Given the description of an element on the screen output the (x, y) to click on. 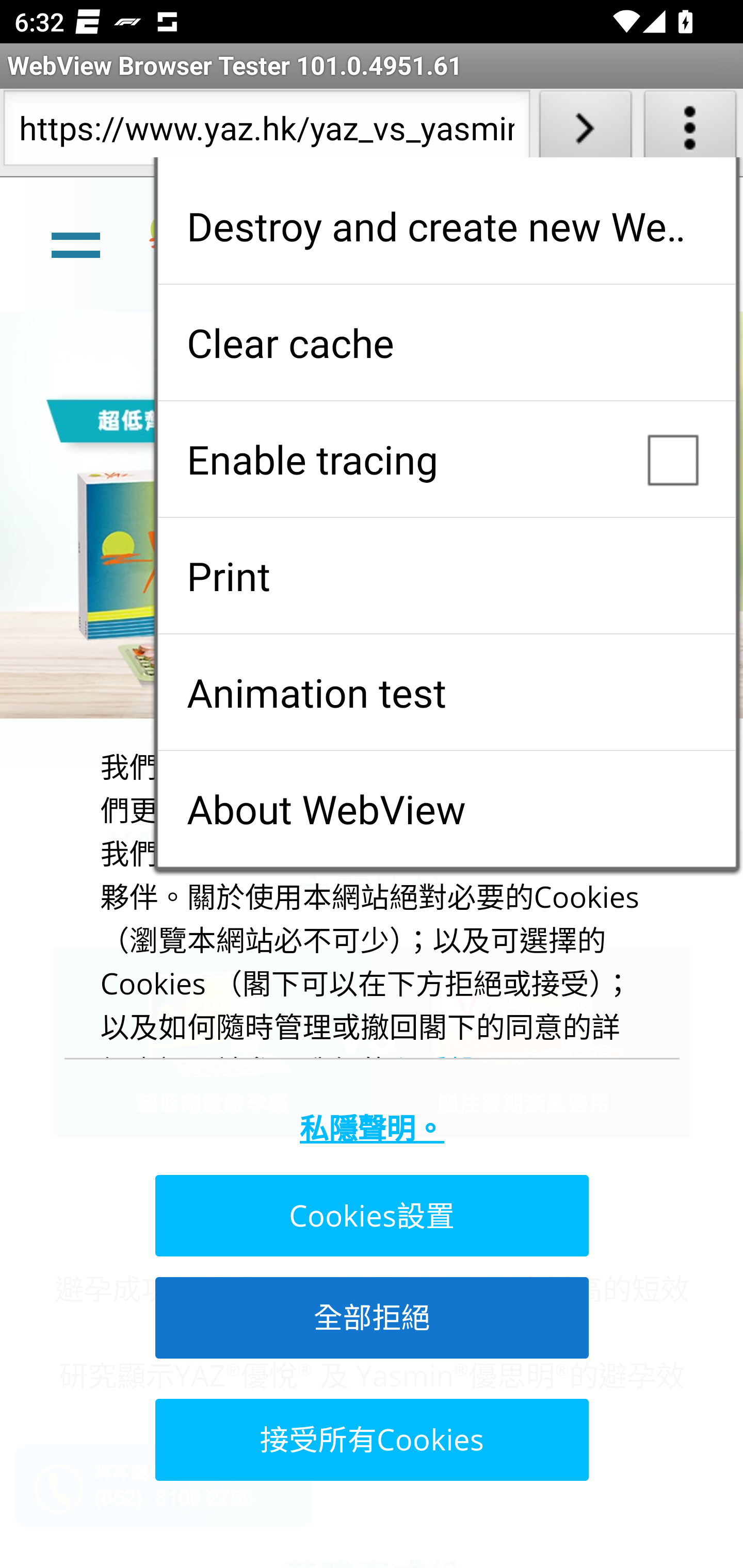
Destroy and create new WebView (446, 225)
Clear cache (446, 342)
Enable tracing (446, 459)
Print (446, 575)
Animation test (446, 692)
About WebView (446, 809)
